Given the description of an element on the screen output the (x, y) to click on. 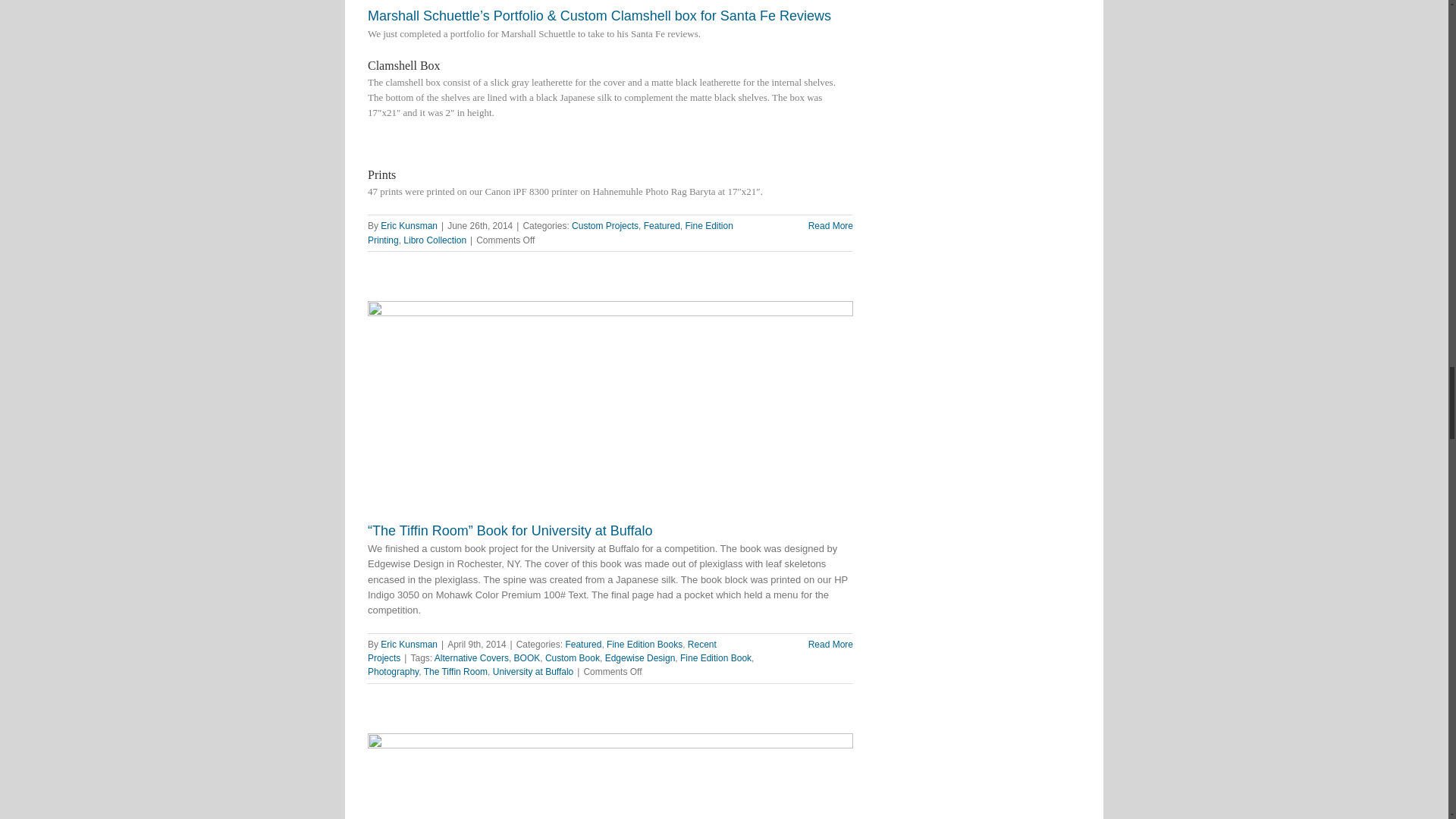
Posts by Eric Kunsman (409, 225)
